Given the description of an element on the screen output the (x, y) to click on. 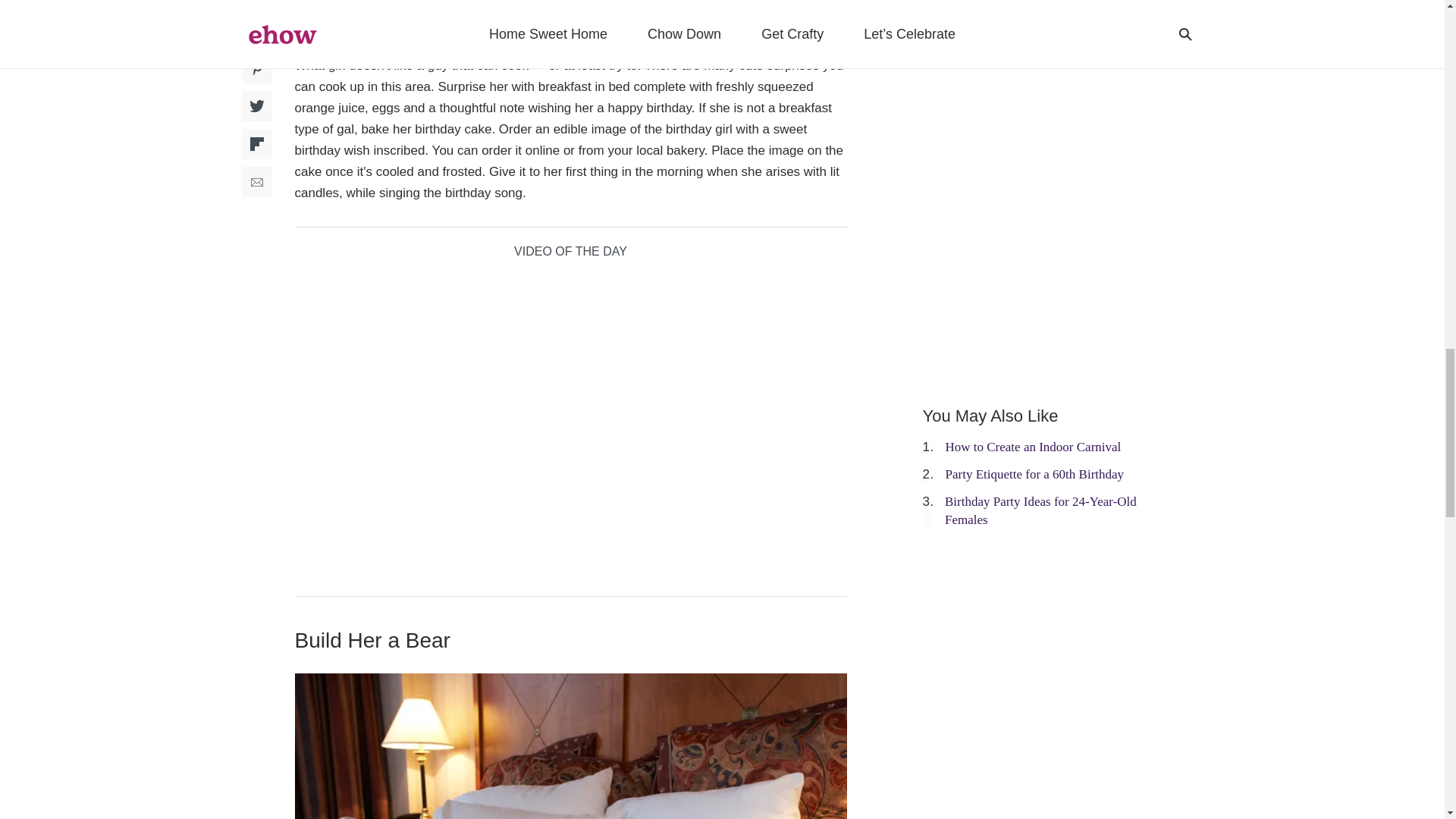
Party Etiquette for a 60th Birthday (1034, 473)
How to Create an Indoor Carnival (1032, 446)
Birthday Party Ideas for 24-Year-Old Females (1040, 510)
